Given the description of an element on the screen output the (x, y) to click on. 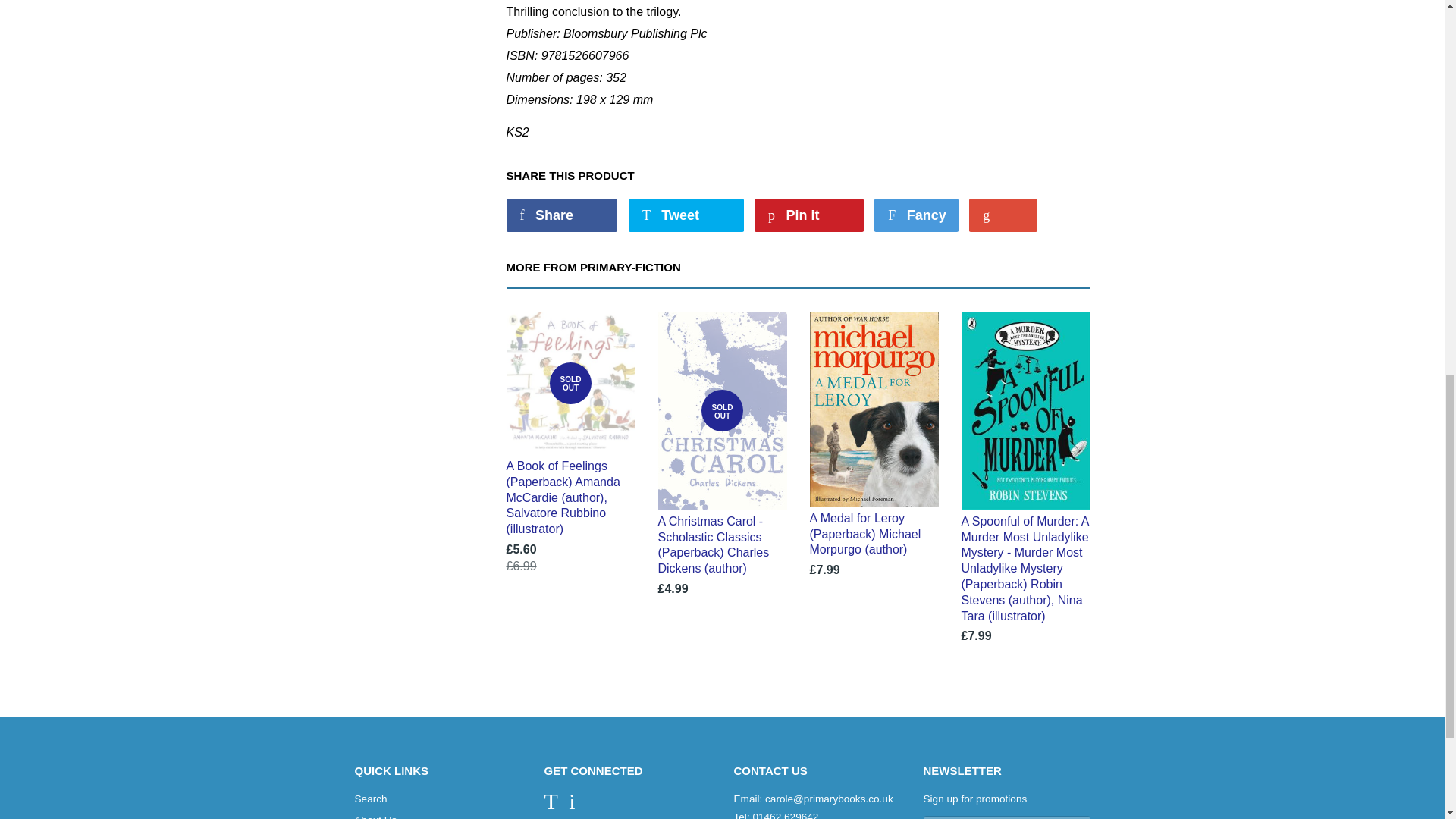
Primary Books on Twitter (550, 805)
